Given the description of an element on the screen output the (x, y) to click on. 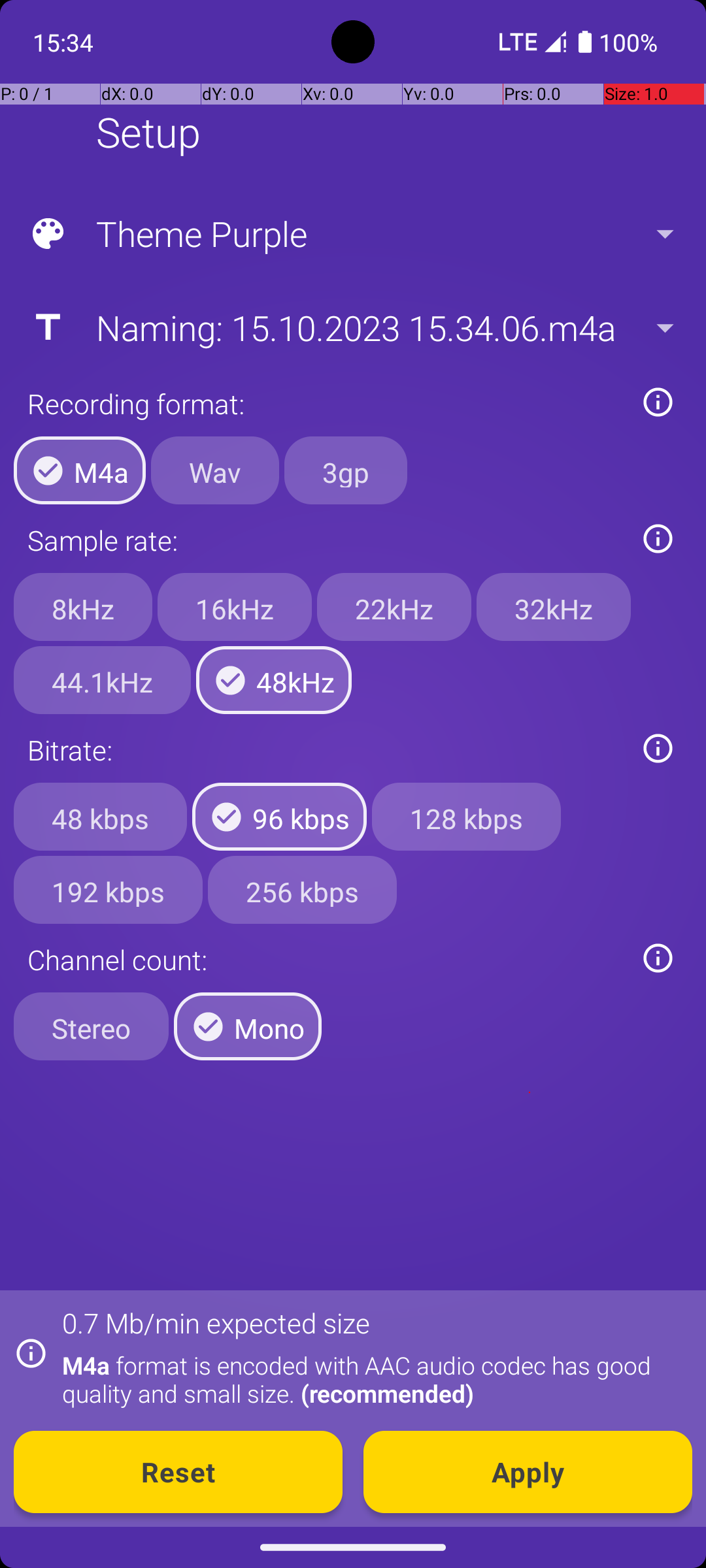
0.7 Mb/min expected size Element type: android.widget.TextView (215, 1322)
Naming: 15.10.2023 15.34.06.m4a Element type: android.widget.TextView (352, 327)
